Given the description of an element on the screen output the (x, y) to click on. 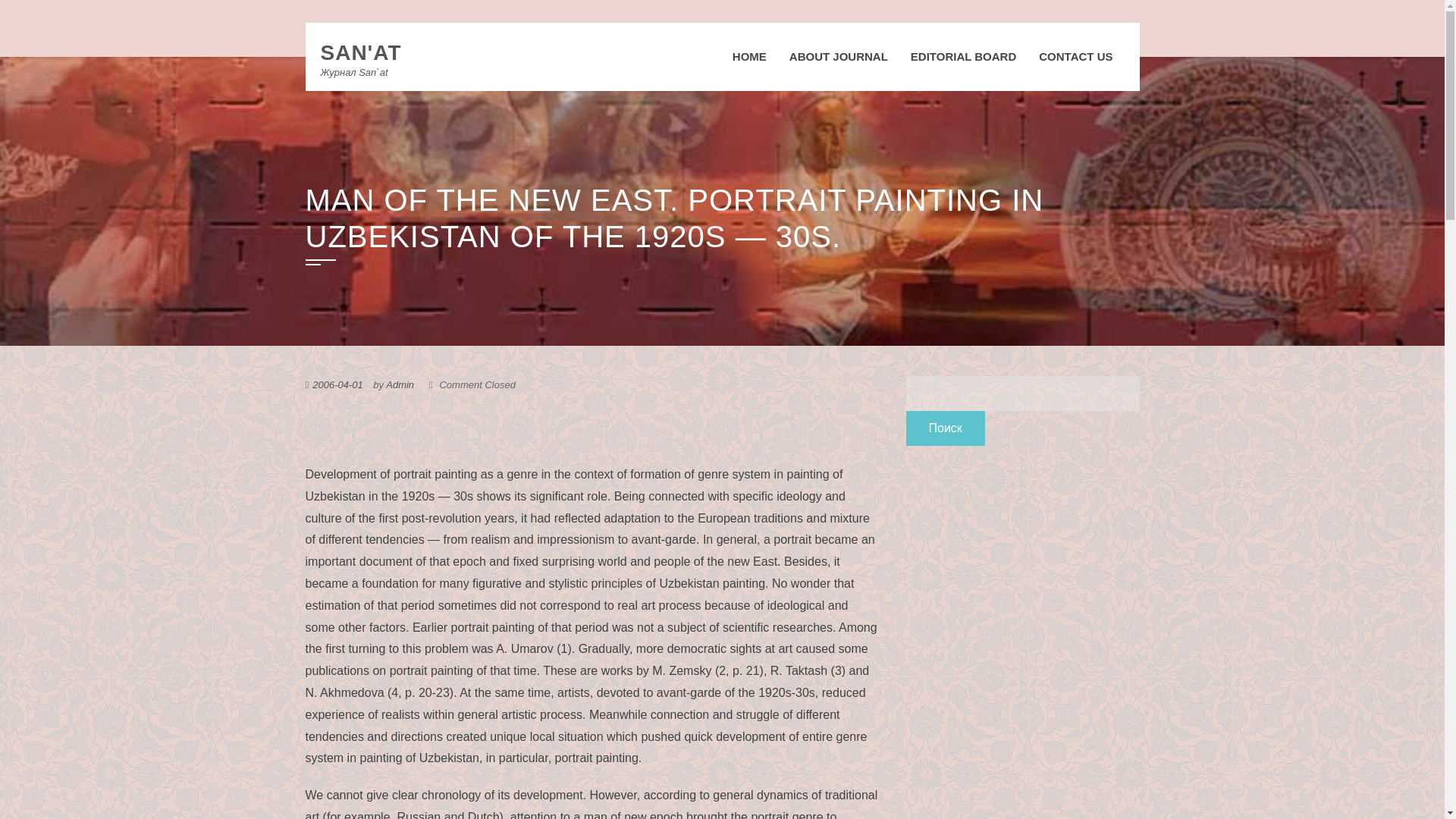
CONTACT US (1075, 56)
SAN'AT (360, 52)
Admin (399, 384)
ABOUT JOURNAL (838, 56)
EDITORIAL BOARD (963, 56)
2006-04-01 (337, 384)
